Given the description of an element on the screen output the (x, y) to click on. 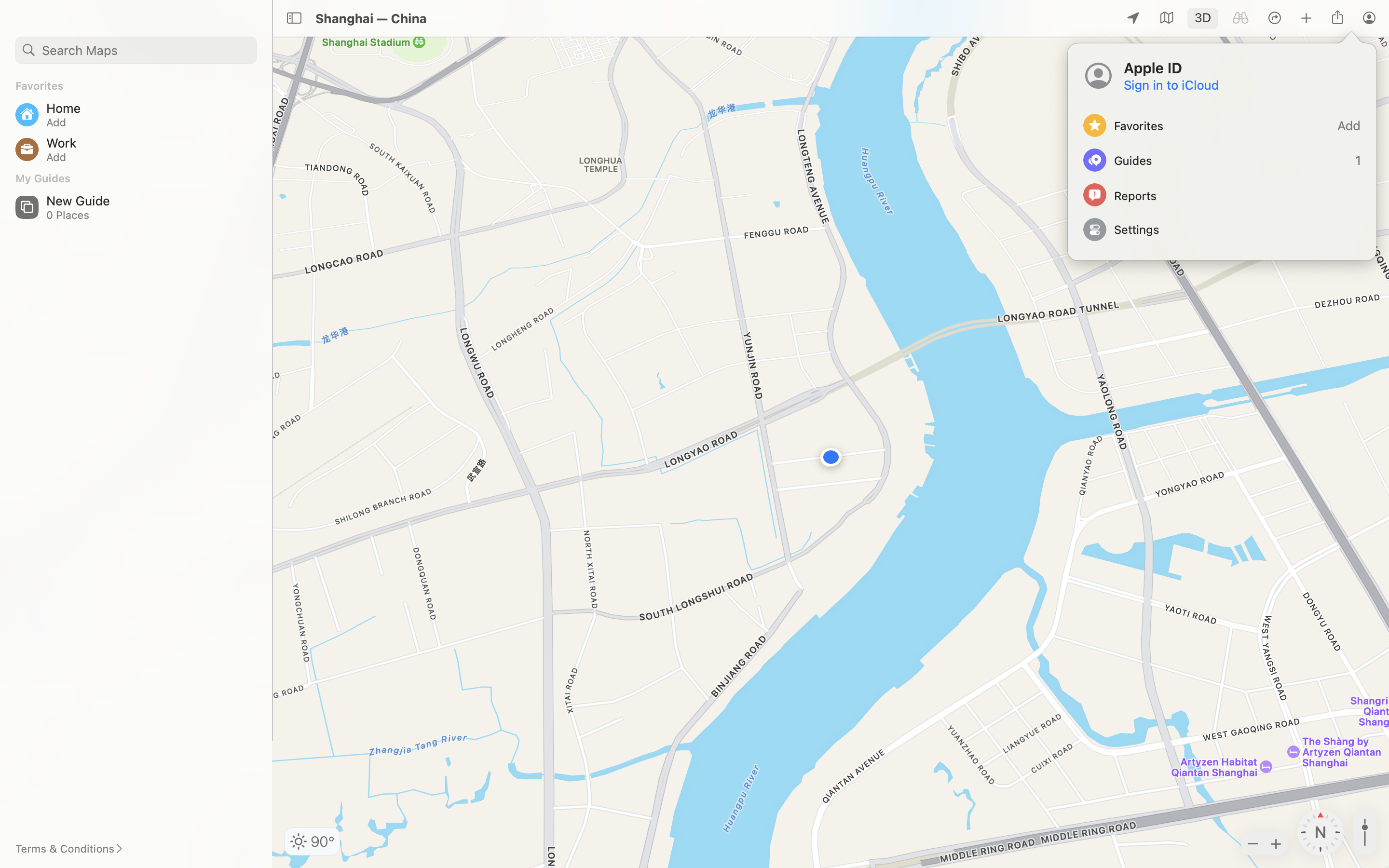
0.6666667461395264 Element type: AXSlider (1364, 832)
0 Element type: AXCheckBox (1240, 18)
1 Element type: AXButton (1221, 159)
1 Element type: AXCheckBox (1202, 18)
Add Element type: AXButton (1221, 125)
